Given the description of an element on the screen output the (x, y) to click on. 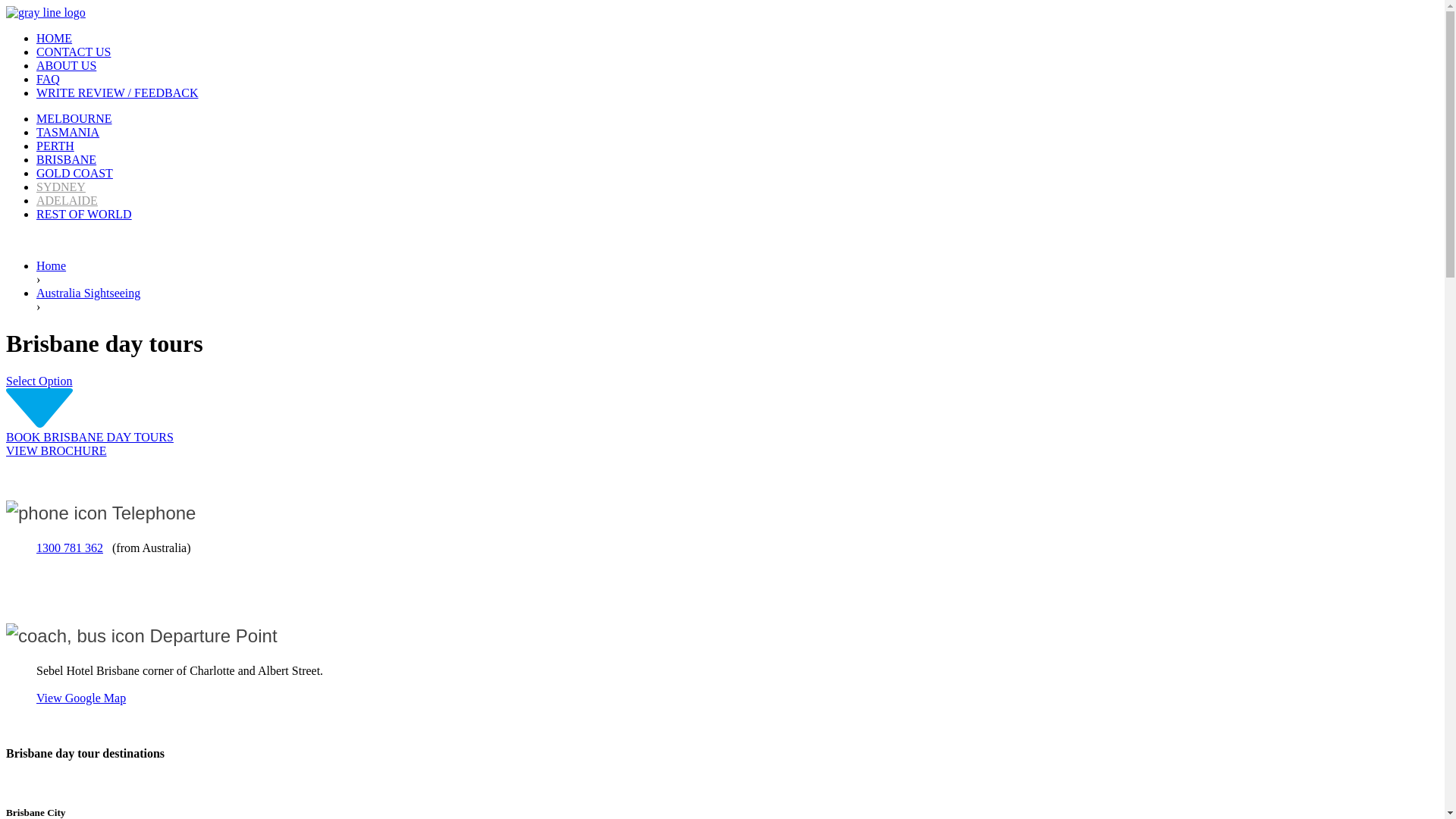
Home Element type: text (50, 265)
1300 781 362 Element type: text (69, 547)
WRITE REVIEW / FEEDBACK Element type: text (116, 92)
View Google Map Element type: text (80, 697)
TASMANIA Element type: text (67, 131)
BOOK BRISBANE DAY TOURS Element type: text (89, 436)
MELBOURNE Element type: text (74, 118)
Select Option Element type: text (39, 380)
SYDNEY Element type: text (60, 186)
CONTACT US Element type: text (73, 51)
PERTH Element type: text (55, 145)
GOLD COAST Element type: text (74, 172)
BRISBANE Element type: text (66, 159)
FAQ Element type: text (47, 78)
HOME Element type: text (54, 37)
ADELAIDE Element type: text (66, 200)
ABOUT US Element type: text (66, 65)
VIEW BROCHURE Element type: text (56, 450)
Australia Sightseeing Element type: text (88, 292)
REST OF WORLD Element type: text (83, 213)
